Given the description of an element on the screen output the (x, y) to click on. 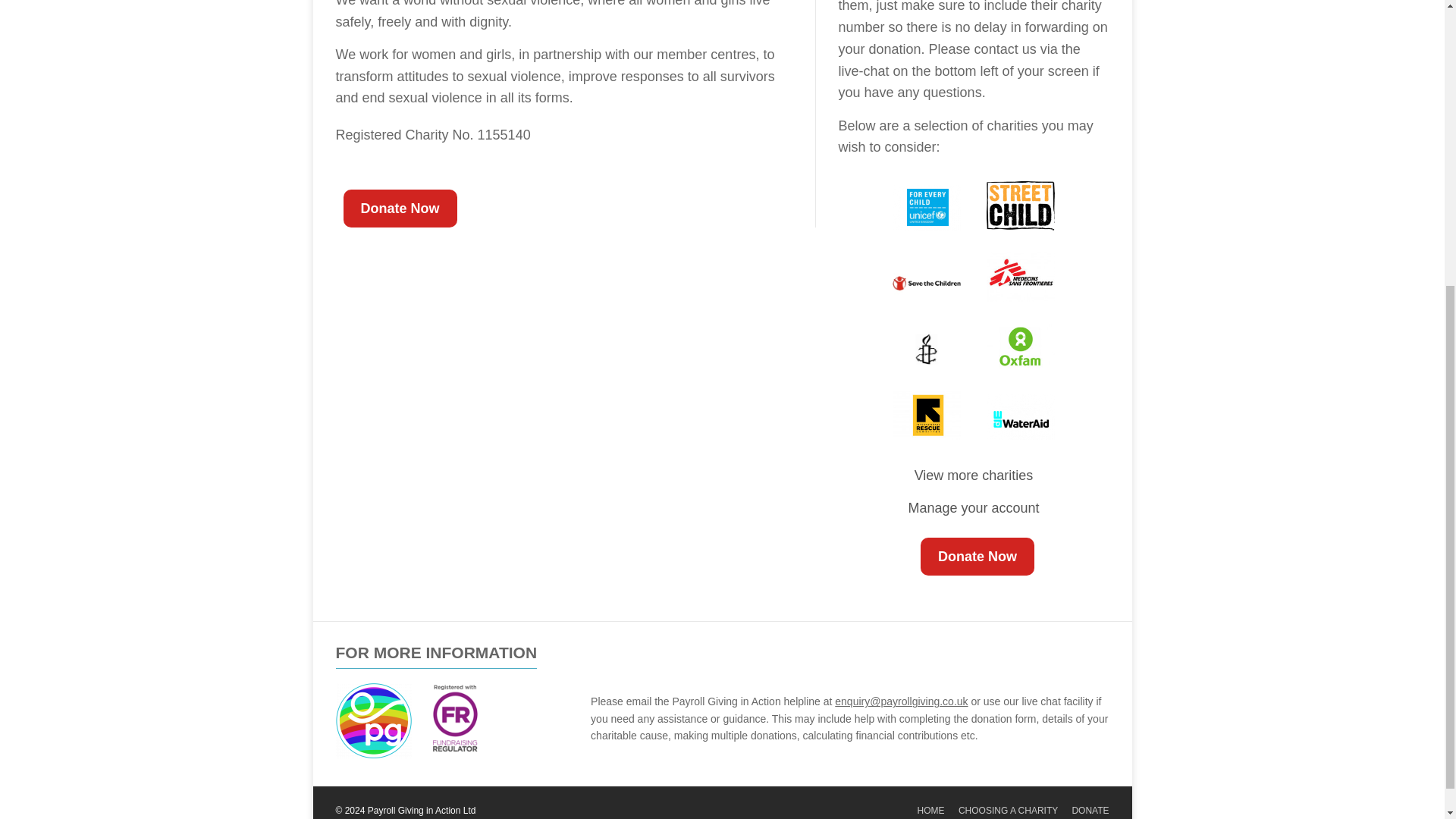
International Rescue Committee UK - DEC member (926, 415)
Save The Children - DEC member (926, 282)
Medecins Sans Frontieres (1019, 276)
DONATE (1089, 810)
HOME (930, 810)
Street Child (1019, 205)
Oxfam - DEC member (1019, 346)
Manage your account (973, 507)
Donate Now (976, 556)
View more charities (973, 475)
Amnesty (926, 348)
Donate Now (399, 208)
WaterAid (1019, 416)
UNICEF (926, 207)
CHOOSING A CHARITY (1008, 810)
